Given the description of an element on the screen output the (x, y) to click on. 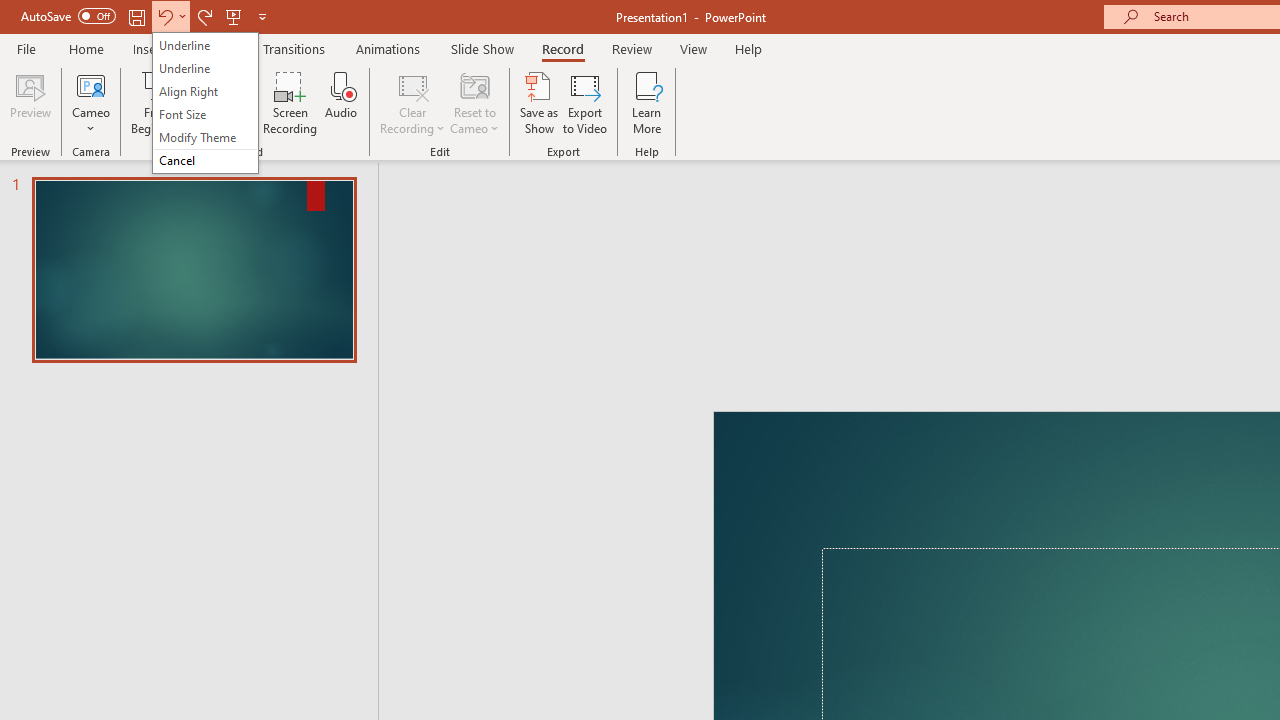
Export to Video (585, 102)
&Undo (205, 102)
